Given the description of an element on the screen output the (x, y) to click on. 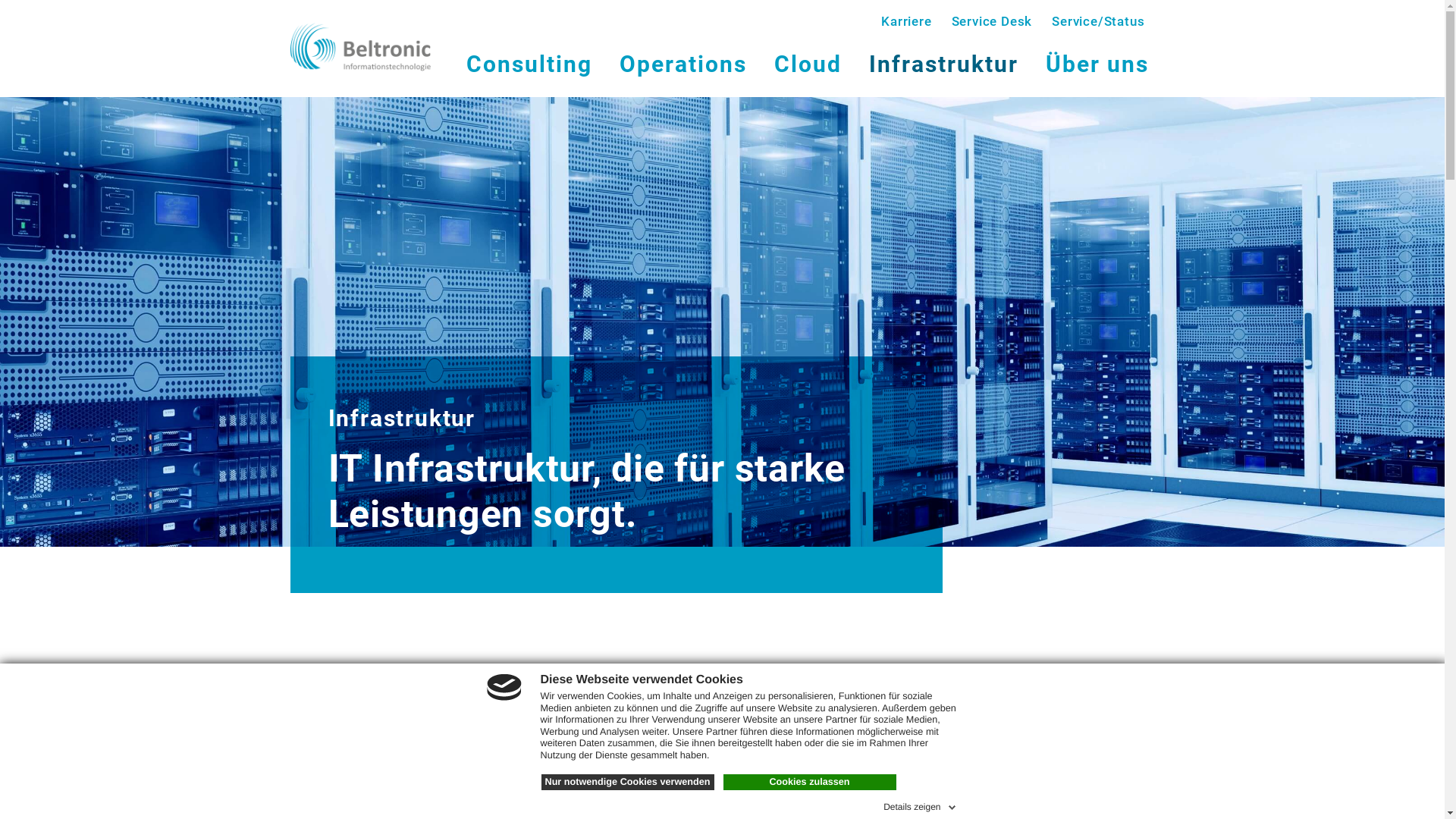
Cookies zulassen Element type: text (809, 782)
Consulting Element type: text (528, 64)
Service/Status Element type: text (1097, 27)
Infrastruktur Element type: text (943, 64)
Nur notwendige Cookies verwenden Element type: text (627, 782)
Service Desk Element type: text (991, 27)
Operations Element type: text (682, 64)
Details zeigen Element type: text (920, 804)
Beratung Element type: text (337, 782)
Karriere Element type: text (906, 27)
Cloud Element type: text (807, 64)
